Given the description of an element on the screen output the (x, y) to click on. 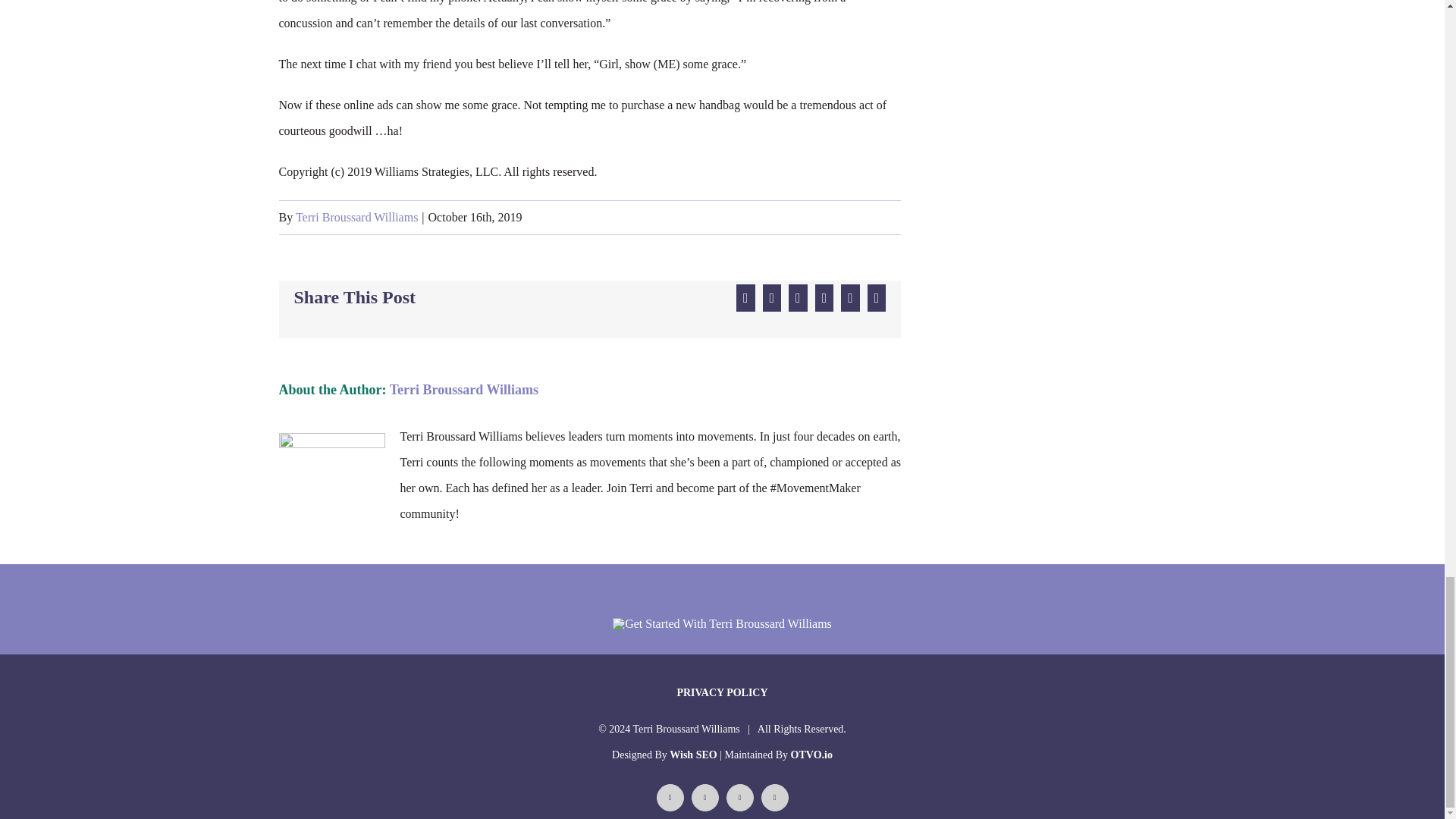
Facebook (670, 797)
Terri Broussard Williams (464, 389)
Twitter (705, 797)
LinkedIn (740, 797)
Instagram (775, 797)
Terri Broussard Williams (356, 216)
Posts by Terri Broussard Williams (356, 216)
Posts by Terri Broussard Williams (464, 389)
